Given the description of an element on the screen output the (x, y) to click on. 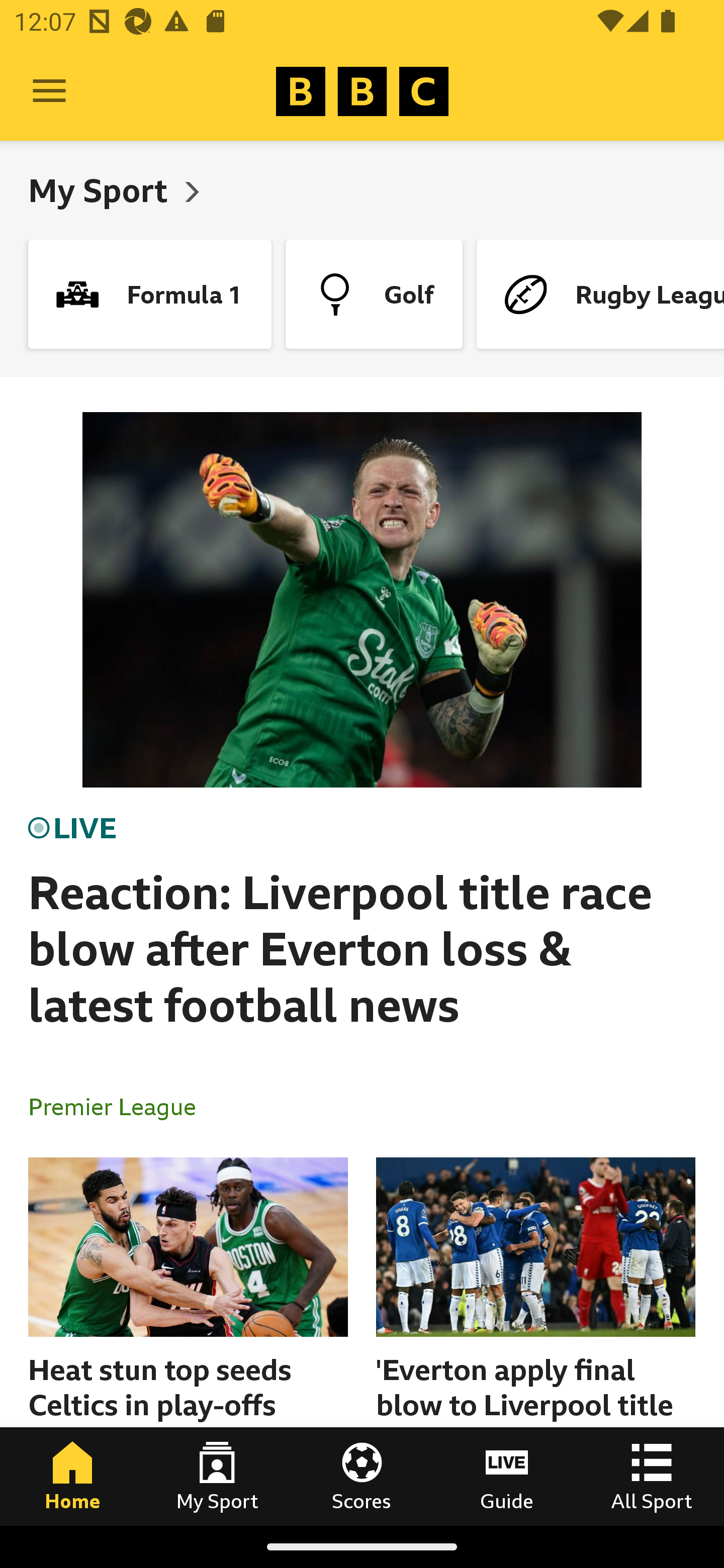
Open Menu (49, 91)
My Sport (101, 190)
Premier League In the section Premier League (119, 1106)
My Sport (216, 1475)
Scores (361, 1475)
Guide (506, 1475)
All Sport (651, 1475)
